Given the description of an element on the screen output the (x, y) to click on. 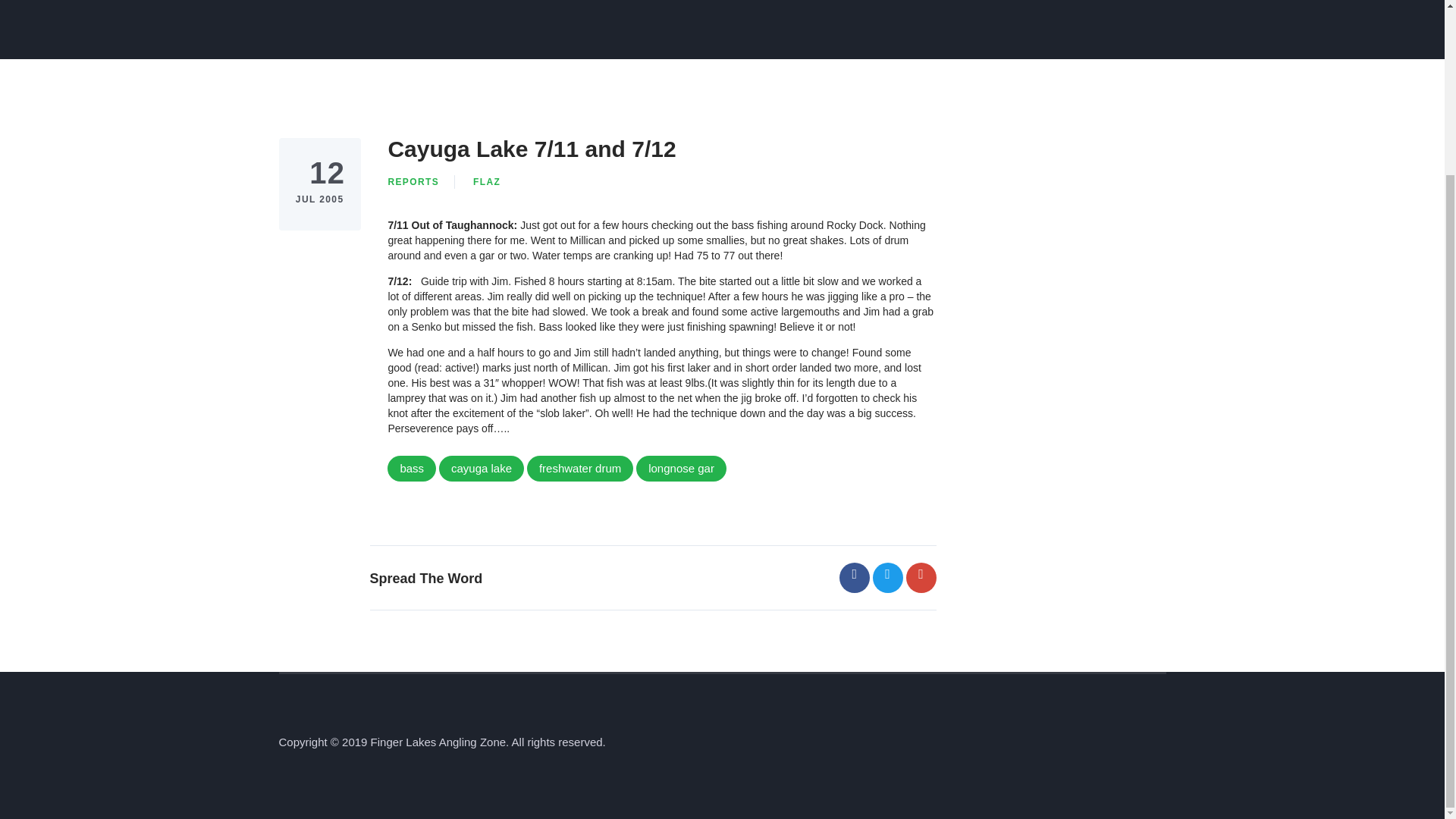
FLAZ (486, 181)
freshwater drum (580, 468)
cayuga lake (481, 468)
REPORTS (413, 181)
longnose gar (681, 468)
Posts by FLAZ (486, 181)
bass (411, 468)
